Given the description of an element on the screen output the (x, y) to click on. 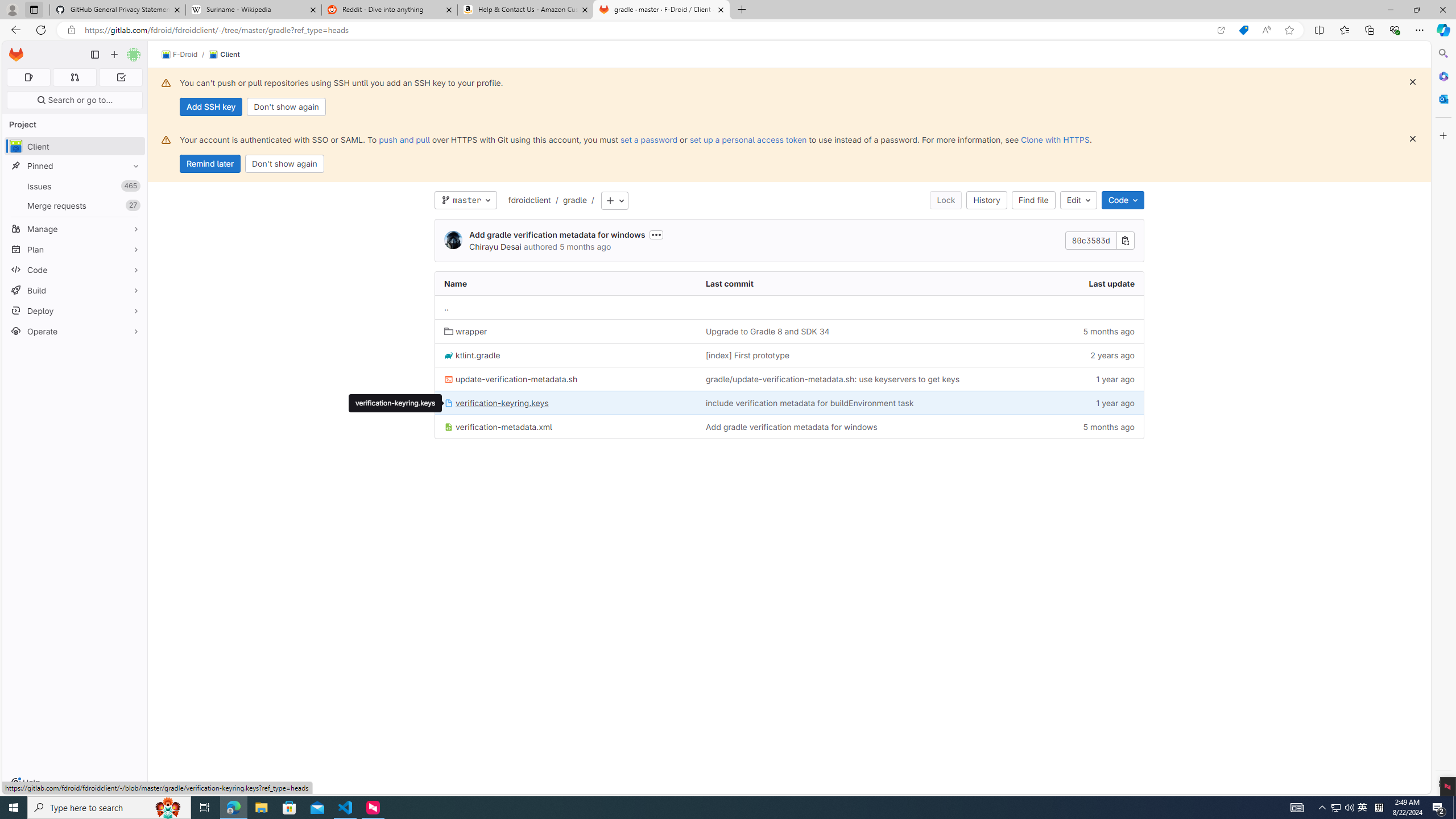
Assigned issues 0 (28, 76)
Suriname - Wikipedia (253, 9)
F-Droid/ (185, 54)
Add gradle verification metadata for windows (853, 426)
Operate (74, 330)
fdroidclient (529, 200)
Unpin Merge requests (132, 205)
5 months ago (1077, 426)
include verification metadata for buildEnvironment task (853, 402)
set up a personal access token (747, 139)
Class: s16 gl-alert-icon gl-alert-icon-no-title (165, 139)
Lock (946, 199)
